Given the description of an element on the screen output the (x, y) to click on. 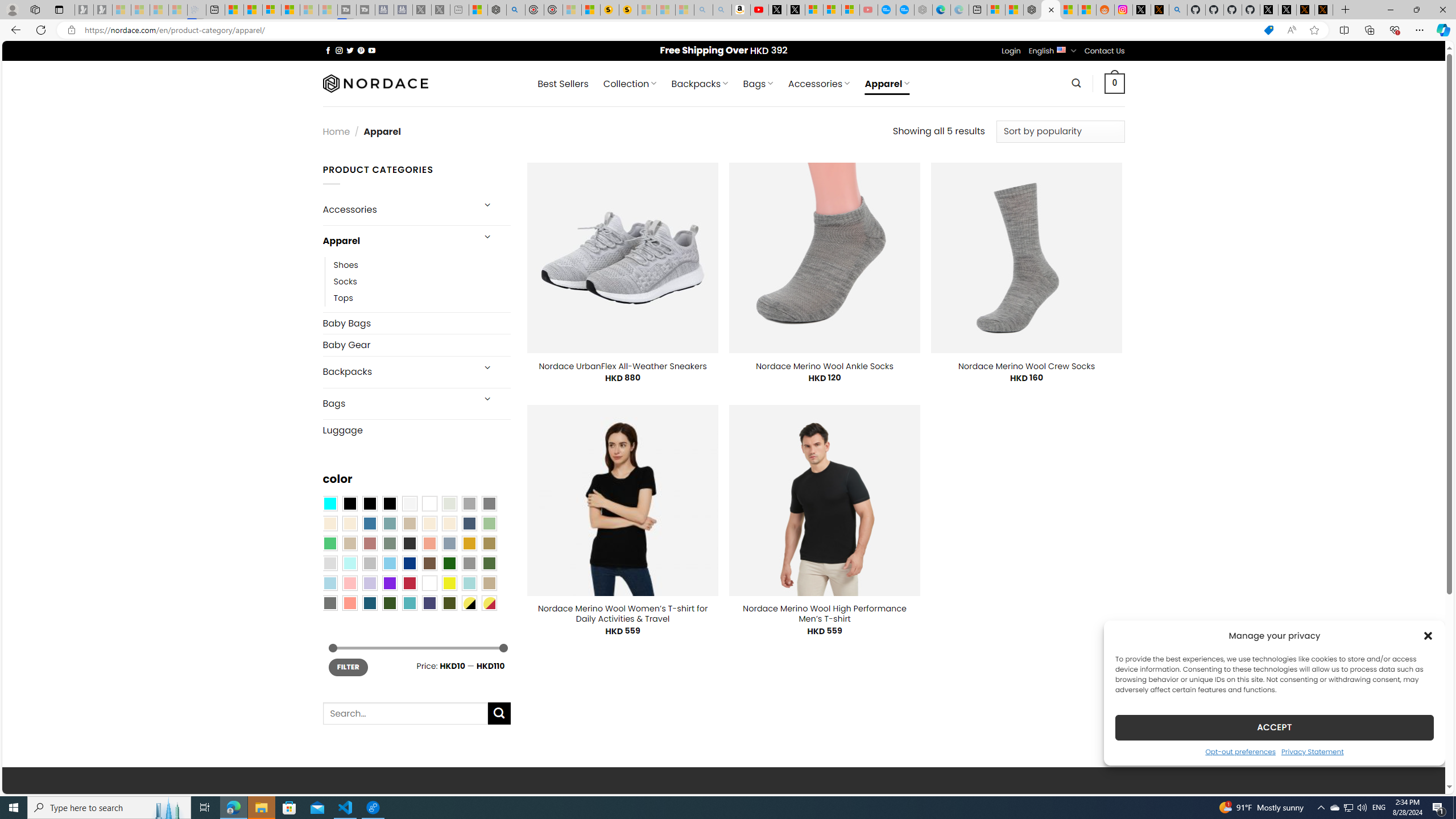
Nordace UrbanFlex All-Weather Sneakers (622, 365)
X - Sleeping (440, 9)
Caramel (429, 522)
Submit (499, 712)
FILTER (347, 667)
Microsoft account | Microsoft Account Privacy Settings (996, 9)
Apparel (397, 241)
Rose (369, 542)
English (1061, 49)
Light Blue (329, 582)
This site has coupons! Shopping in Microsoft Edge (1268, 29)
